Given the description of an element on the screen output the (x, y) to click on. 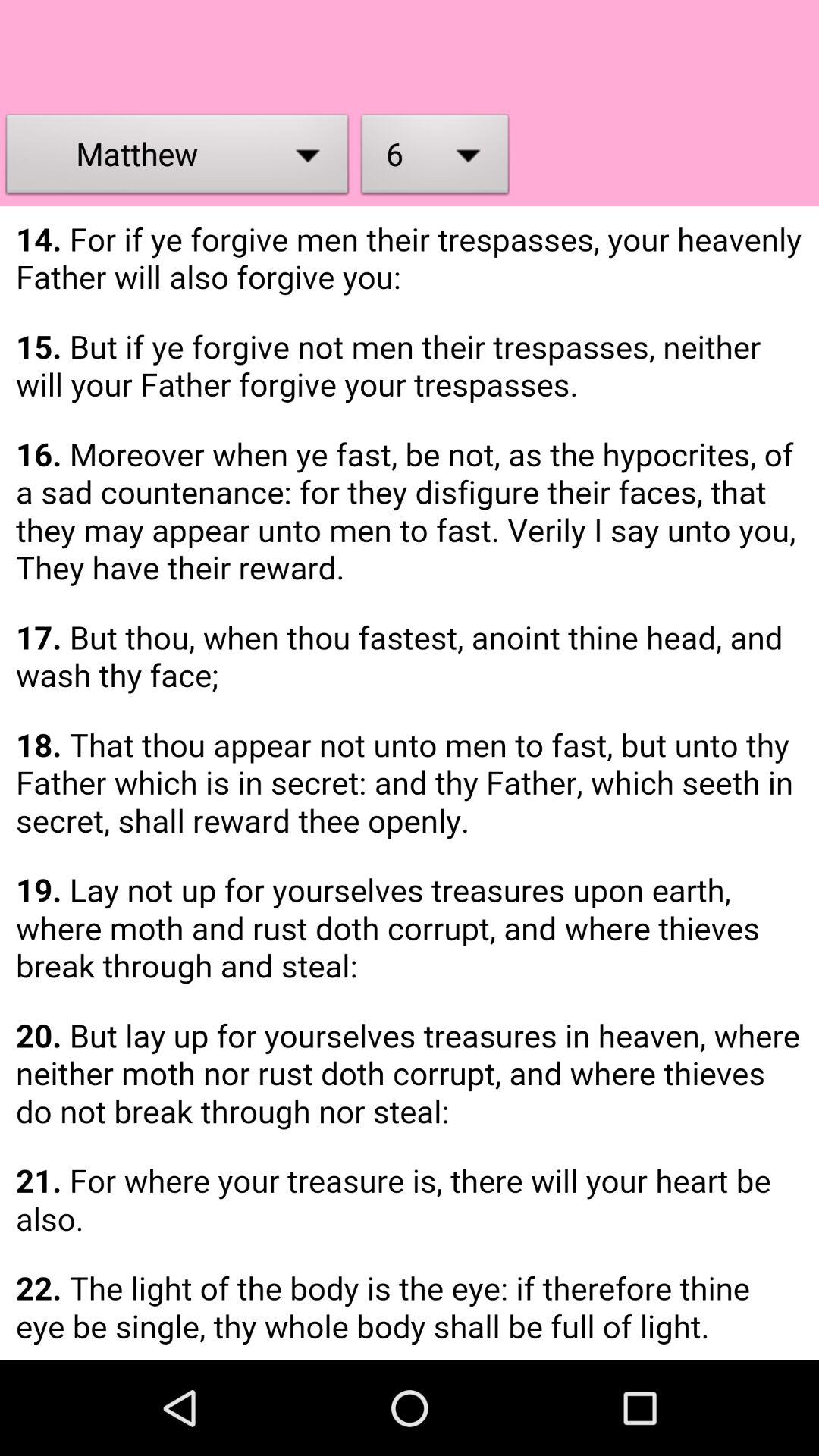
holy bible page 6 (409, 783)
